Given the description of an element on the screen output the (x, y) to click on. 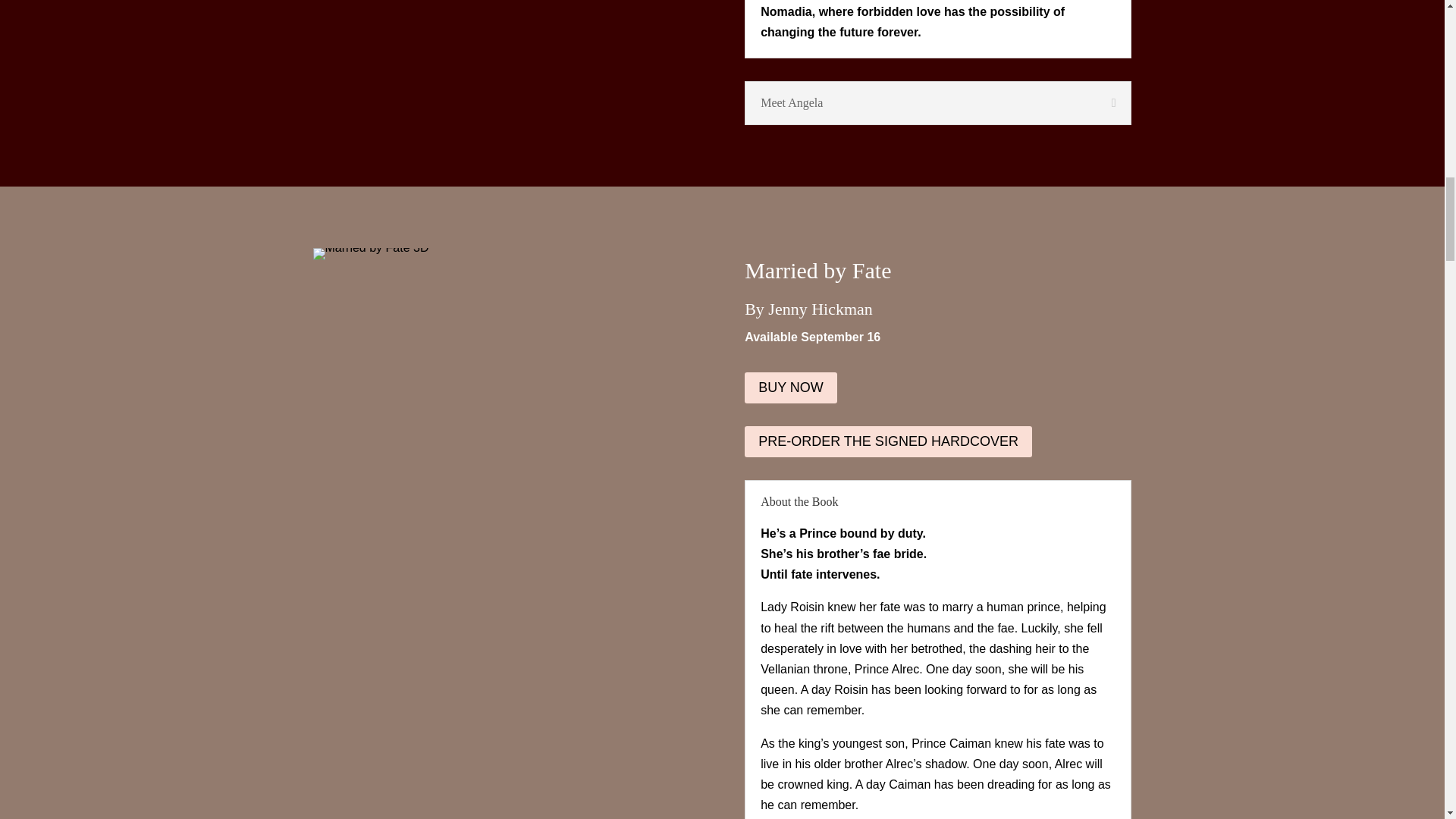
Married by Fate 3D (370, 254)
PRE-ORDER THE SIGNED HARDCOVER (888, 441)
BUY NOW (790, 387)
